Given the description of an element on the screen output the (x, y) to click on. 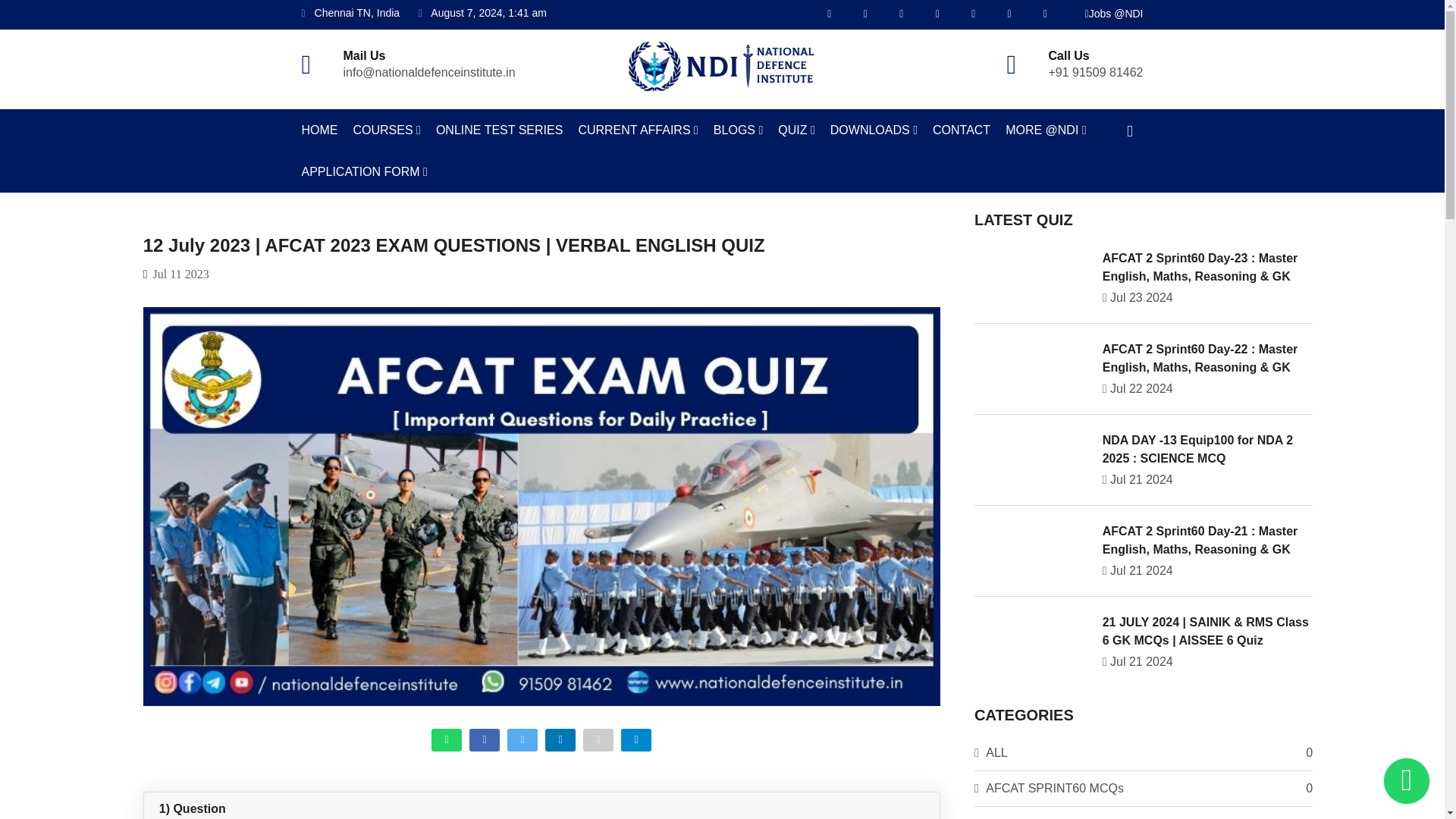
CONTACT (961, 129)
BLOGS (737, 129)
DOWNLOADS (873, 129)
QUIZ (796, 129)
CURRENT AFFAIRS (637, 129)
COURSES (386, 129)
ONLINE TEST SERIES (498, 129)
